Given the description of an element on the screen output the (x, y) to click on. 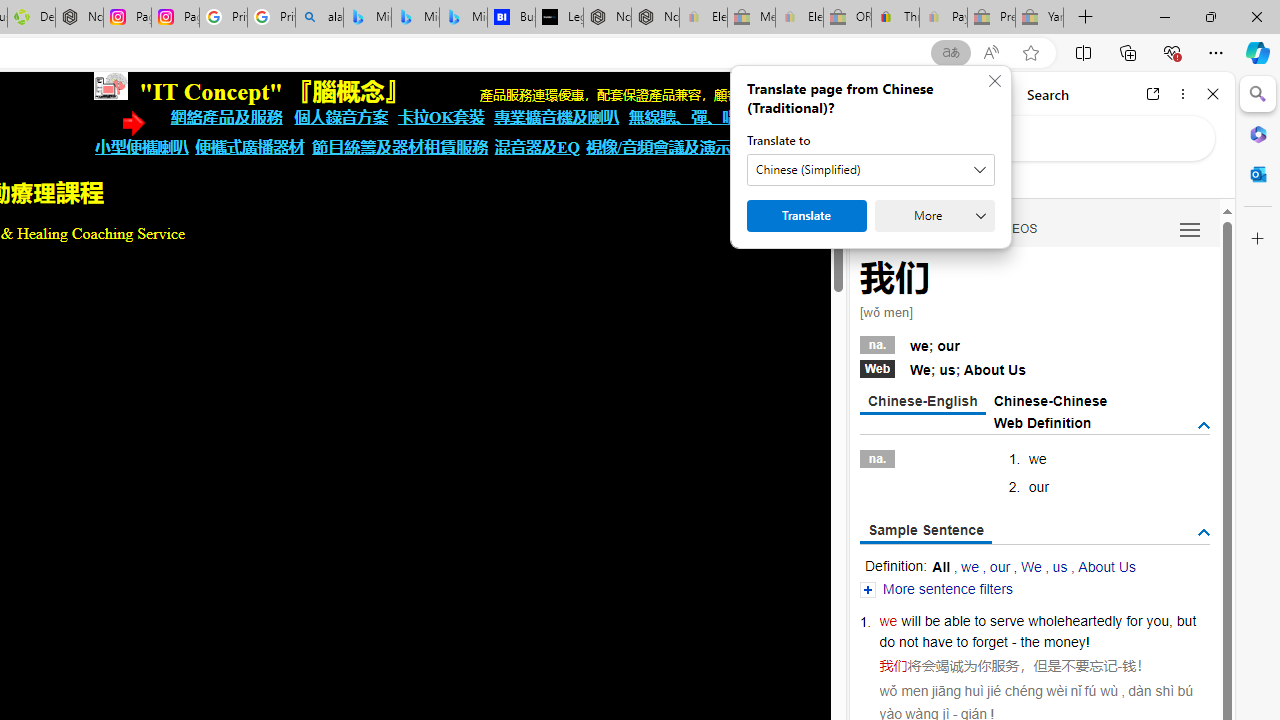
not (908, 642)
Copilot (Ctrl+Shift+.) (1258, 52)
Show translate options (950, 53)
Web Definition (1042, 422)
Translate (806, 215)
Close (1213, 93)
WebWe; us; About Us (1034, 367)
wholeheartedly (1074, 620)
we (888, 620)
Us (1017, 370)
alabama high school quarterback dies - Search (319, 17)
na.we; our (1034, 343)
